Given the description of an element on the screen output the (x, y) to click on. 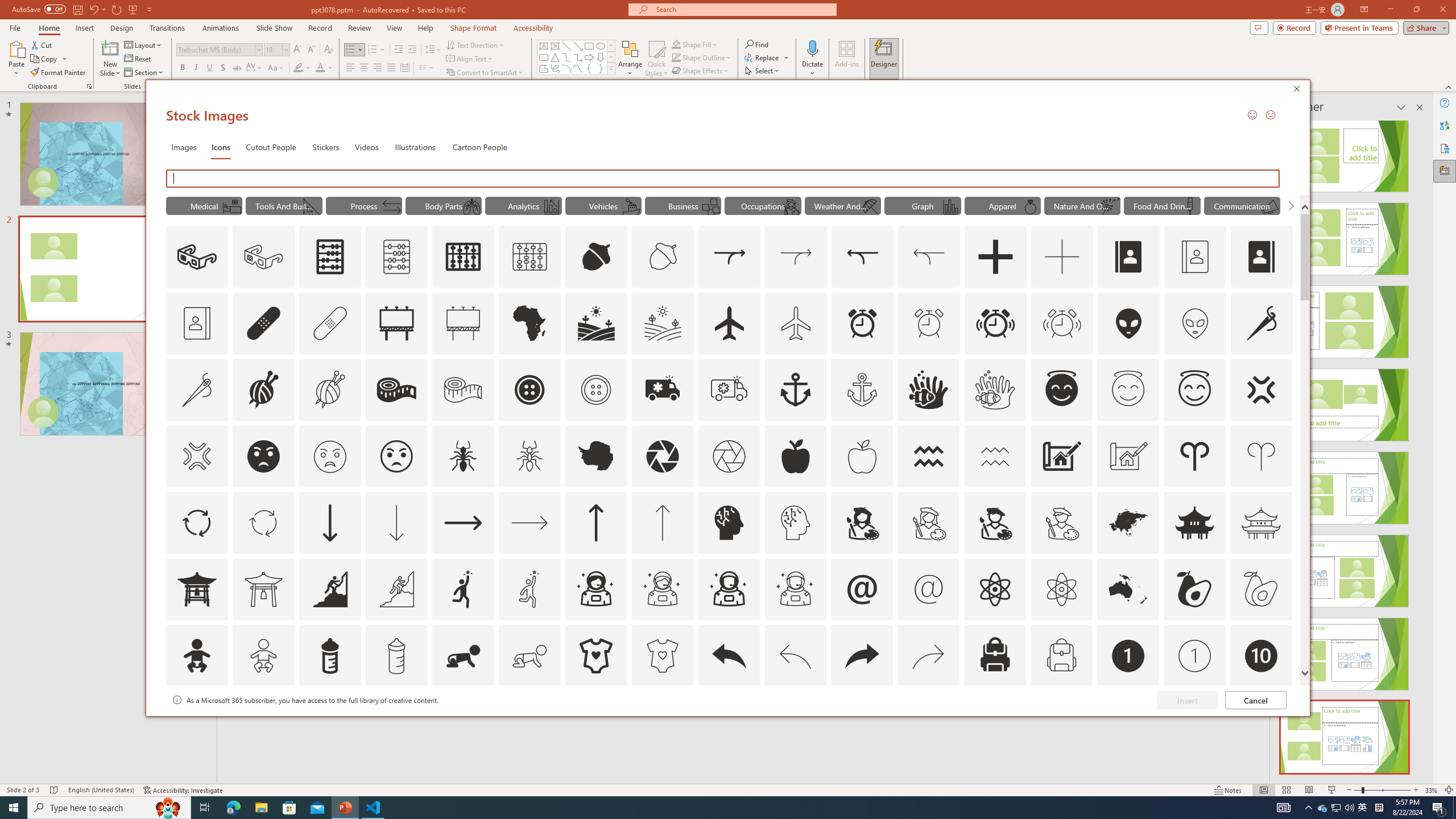
AutomationID: Icons_Aries (1194, 455)
AutomationID: Icons_Avocado (1194, 588)
AutomationID: Icons_Ambulance_M (729, 389)
AutomationID: Icons_AstronautFemale (595, 588)
